Given the description of an element on the screen output the (x, y) to click on. 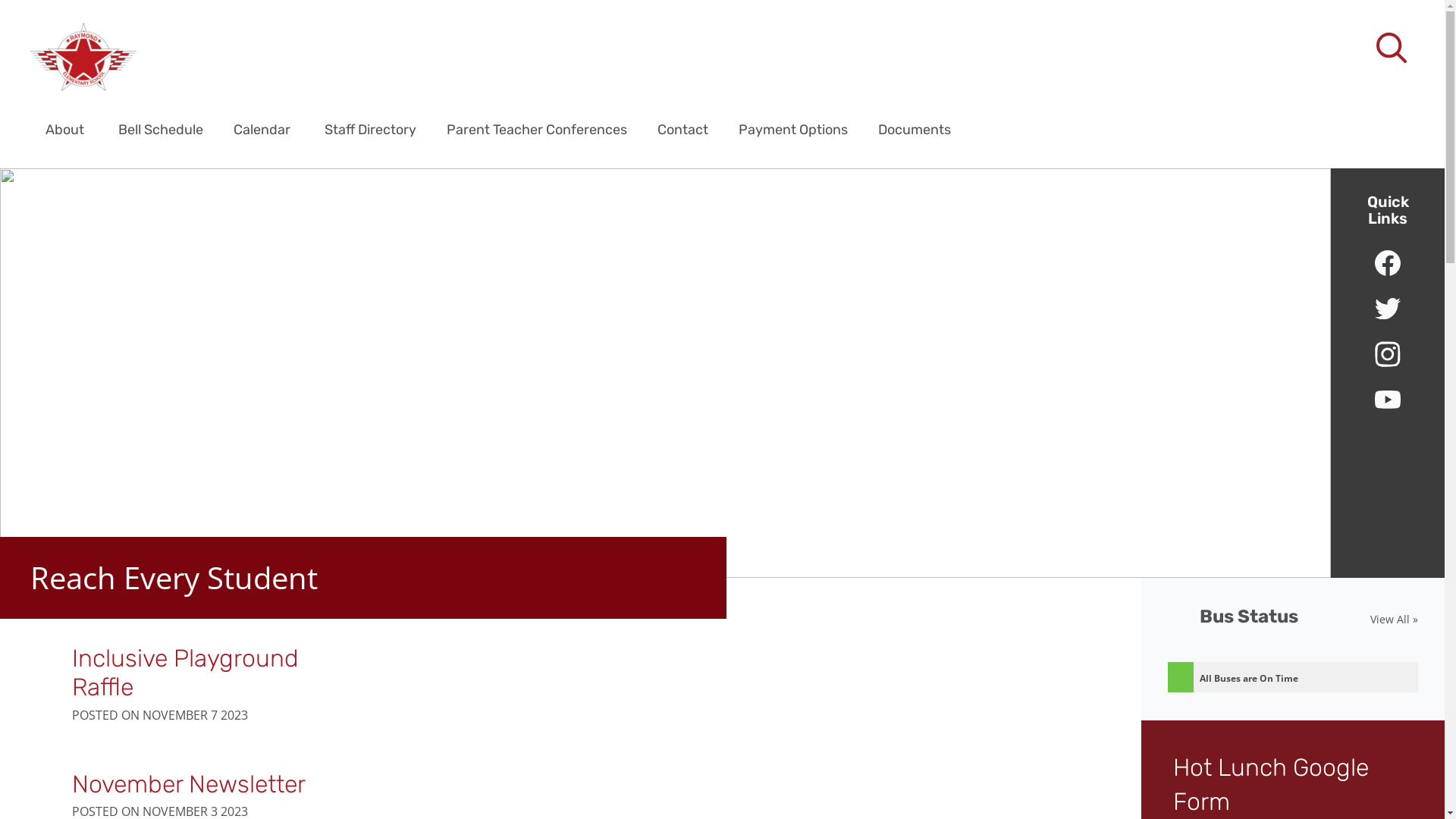
Raymond Elementary School's Twitter Element type: hover (1387, 308)
Raymond Elementary School's Facebook Element type: hover (1387, 263)
Calendar Element type: text (261, 129)
Staff Directory Element type: text (370, 129)
About Element type: text (64, 129)
Bell Schedule Element type: text (160, 129)
Documents Element type: text (914, 129)
Contact Element type: text (682, 129)
Raymond Elementary School's Instagram Element type: hover (1387, 354)
Parent Teacher Conferences Element type: text (536, 129)
View All Element type: text (1394, 619)
Quick Links Element type: text (1387, 209)
home Element type: hover (83, 56)
Payment Options Element type: text (792, 129)
Search Element type: text (45, 19)
Inclusive Playground Raffle
POSTED ON NOVEMBER 7 2023 Element type: text (346, 682)
Raymond Elementary School's YouTube Element type: hover (1387, 399)
